Given the description of an element on the screen output the (x, y) to click on. 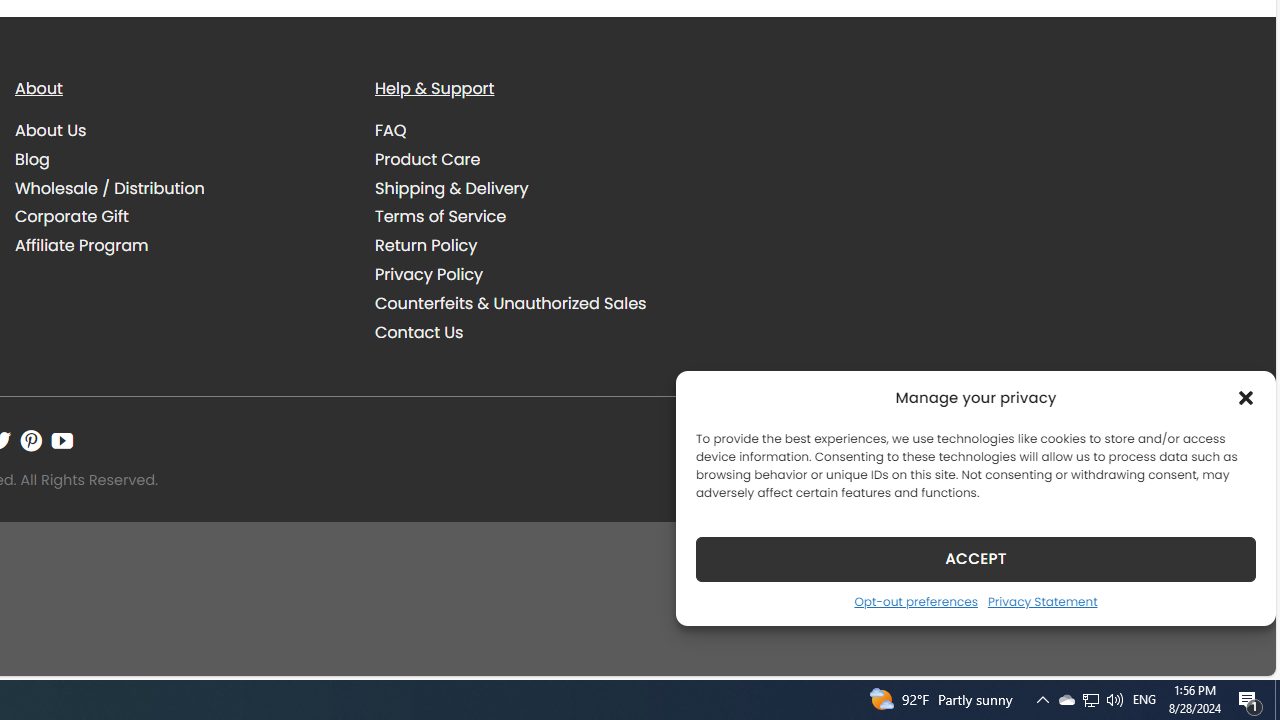
Corporate Gift (180, 216)
Affiliate Program (180, 246)
ACCEPT (975, 558)
Opt-out preferences (915, 601)
Wholesale / Distribution (109, 187)
Class: cmplz-close (1245, 397)
Return Policy (540, 246)
Shipping & Delivery (451, 187)
Blog (180, 159)
Go to top (1234, 647)
Affiliate Program (81, 245)
Terms of Service (540, 216)
Privacy Policy (540, 274)
Wholesale / Distribution (180, 188)
